Given the description of an element on the screen output the (x, y) to click on. 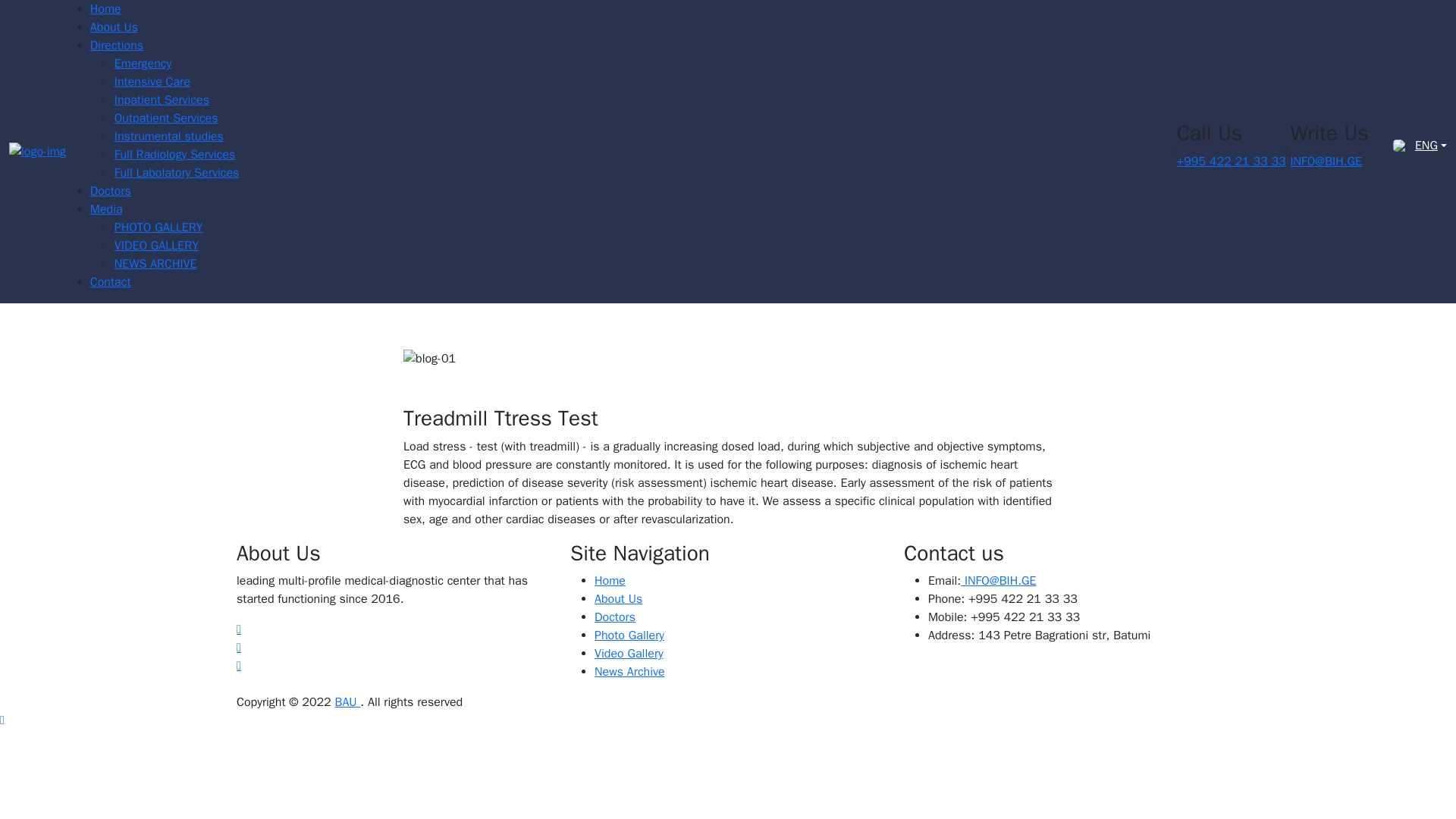
Instrumental studies (169, 136)
Contact (110, 281)
Emergency (143, 63)
Doctors (110, 191)
News Archive (629, 671)
Doctors (614, 616)
Intensive Care (152, 81)
PHOTO GALLERY (159, 227)
BAU (346, 702)
NEWS ARCHIVE (155, 263)
